Given the description of an element on the screen output the (x, y) to click on. 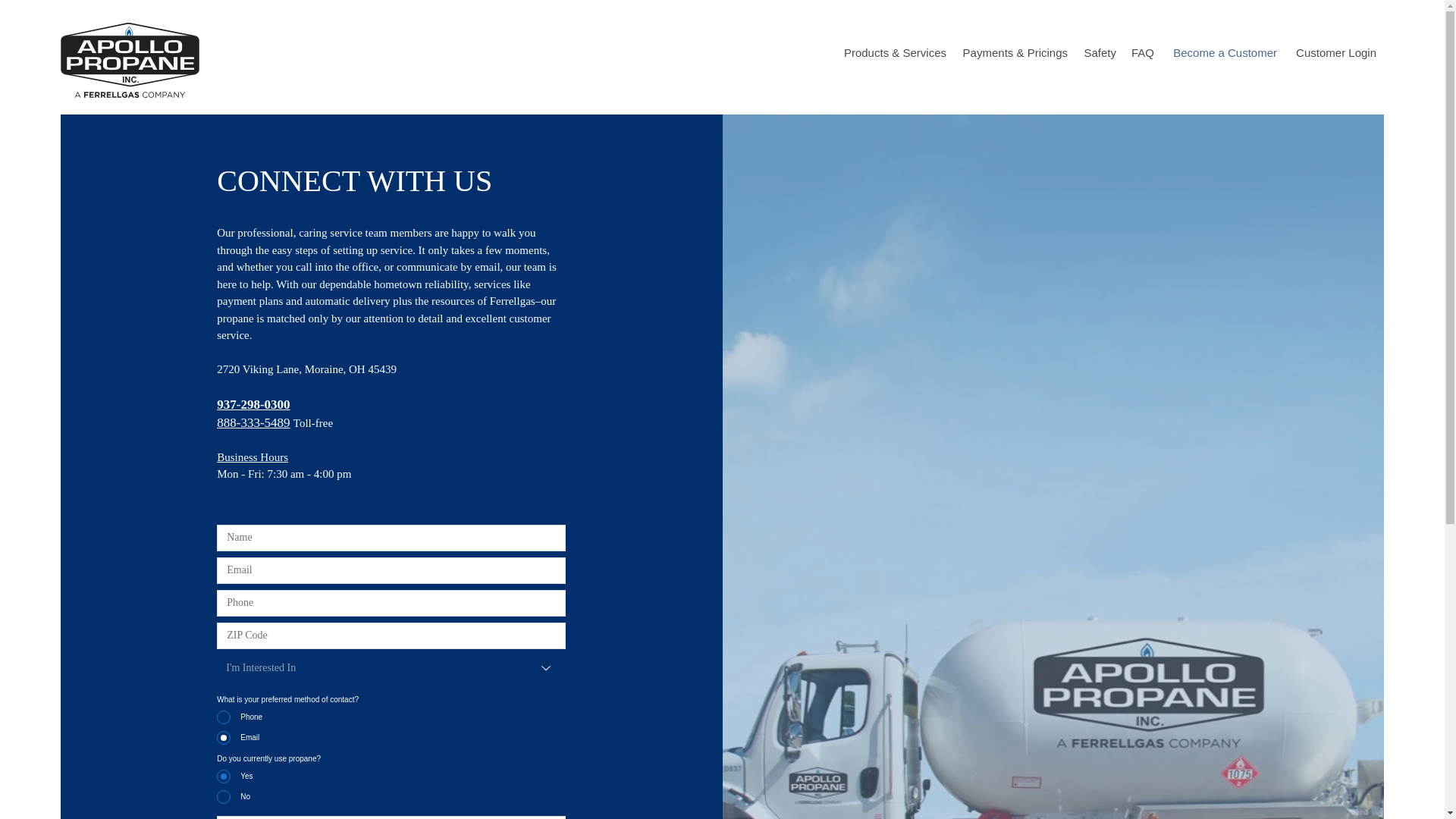
937-298-0300 (252, 404)
888-333-5489 (252, 422)
Customer Login (1334, 52)
Safety (1099, 52)
FAQ (1142, 52)
Become a Customer (1222, 52)
